Given the description of an element on the screen output the (x, y) to click on. 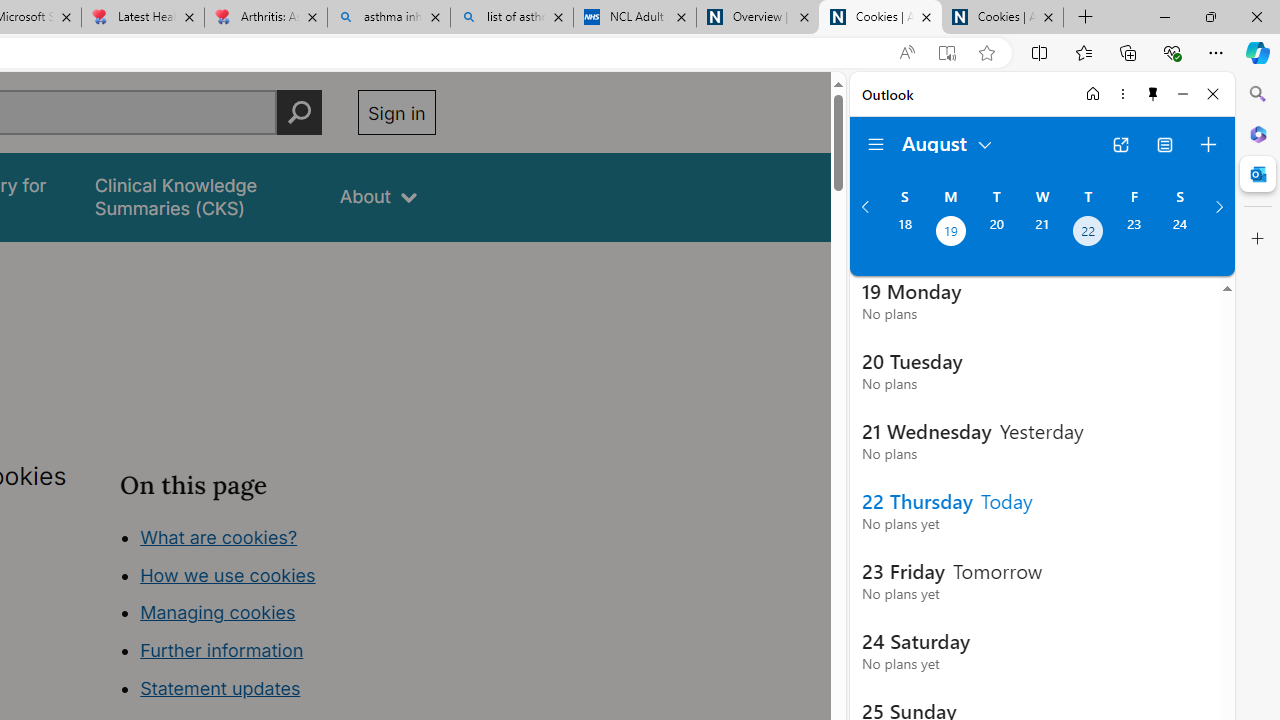
August (948, 141)
Managing cookies (217, 612)
Further information (221, 650)
list of asthma inhalers uk - Search (511, 17)
Folder navigation (876, 144)
Sunday, August 18, 2024.  (904, 233)
